Given the description of an element on the screen output the (x, y) to click on. 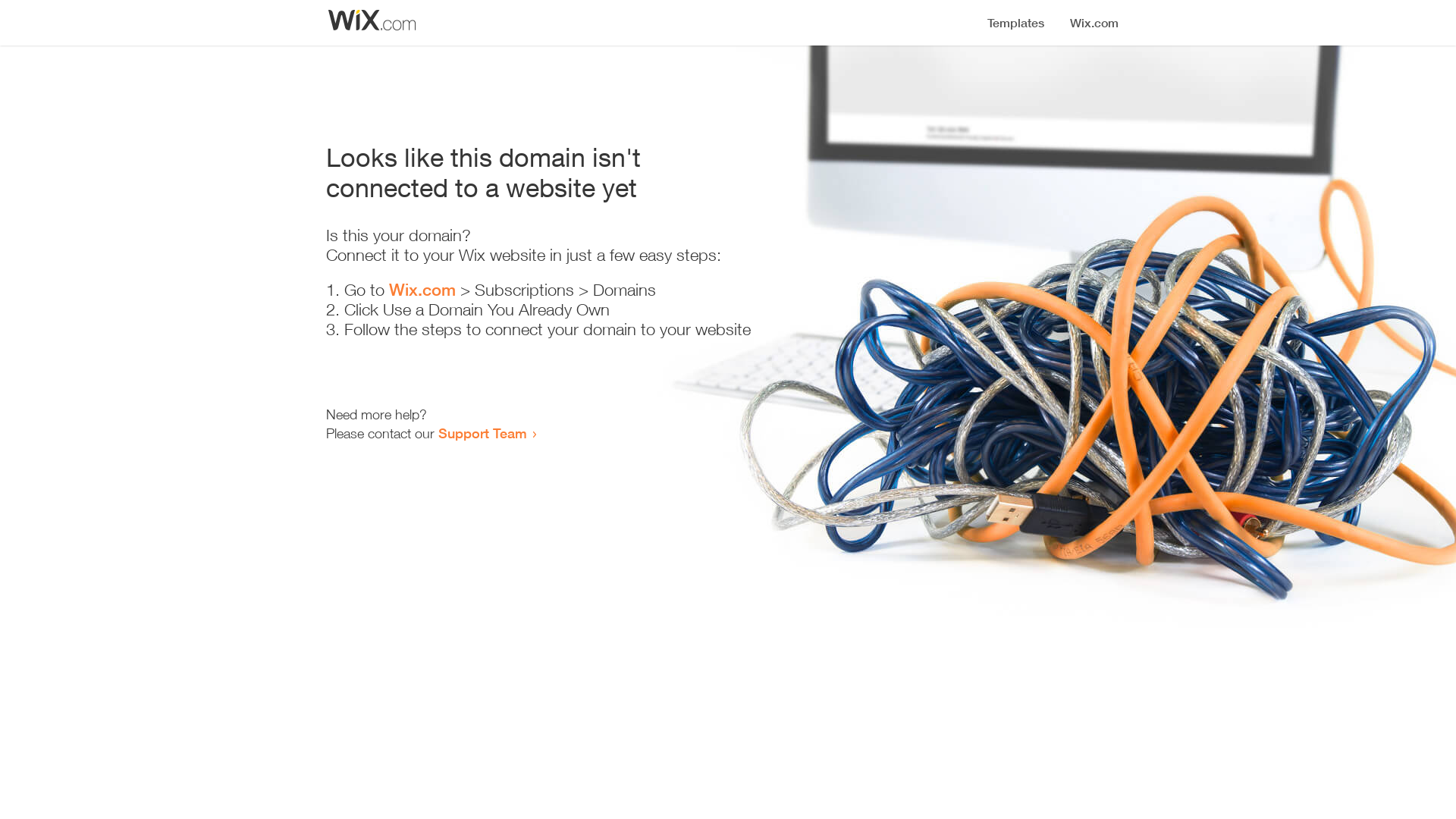
Support Team Element type: text (482, 432)
Wix.com Element type: text (422, 289)
